Given the description of an element on the screen output the (x, y) to click on. 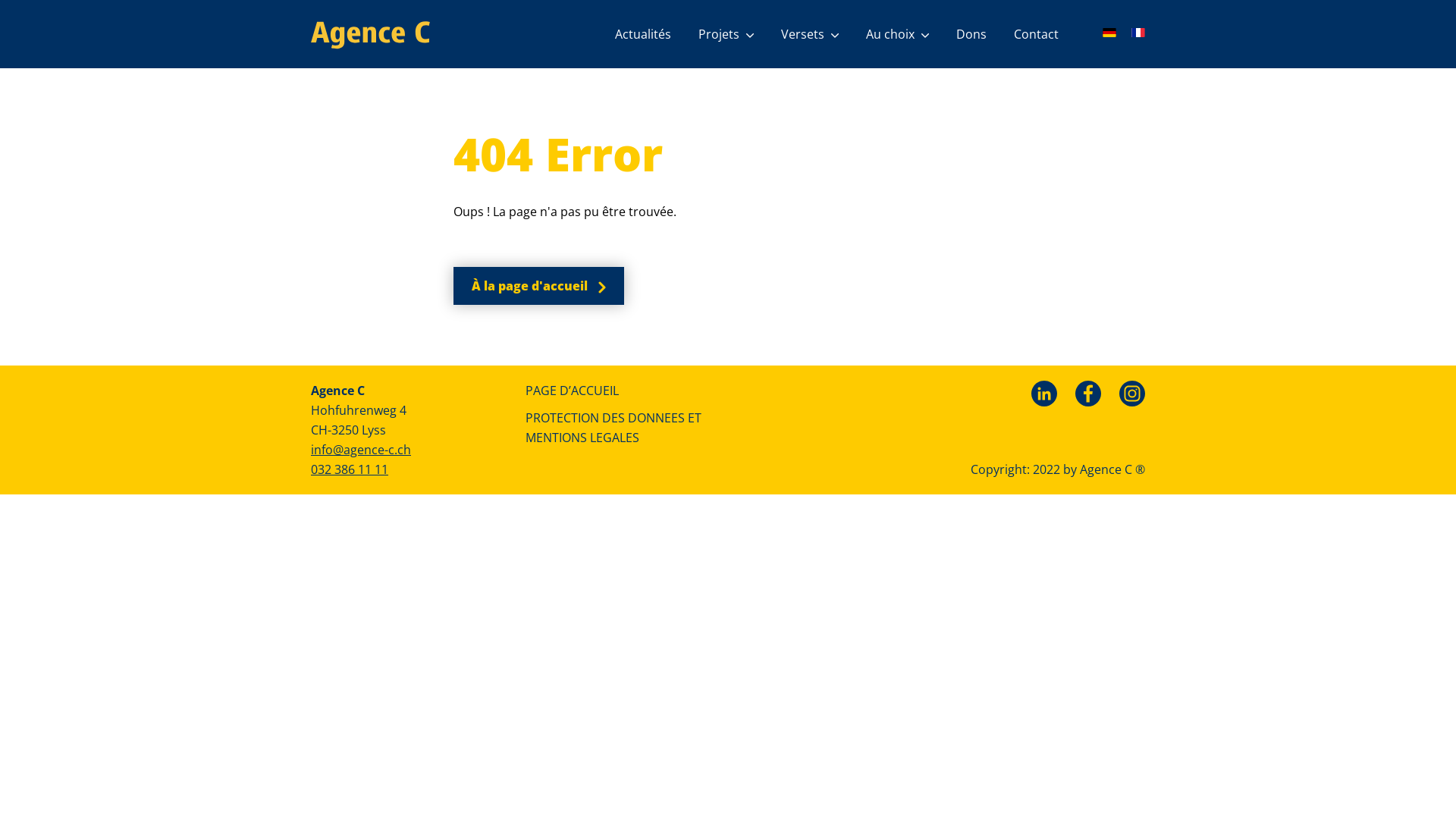
Versets Element type: text (809, 33)
Dons Element type: text (971, 33)
info@agence-c.ch Element type: text (360, 449)
Contact Element type: text (1036, 33)
Projets Element type: text (725, 33)
032 386 11 11 Element type: text (349, 469)
PROTECTION DES DONNEES ET MENTIONS LEGALES Element type: text (620, 427)
Au choix Element type: text (897, 33)
